Given the description of an element on the screen output the (x, y) to click on. 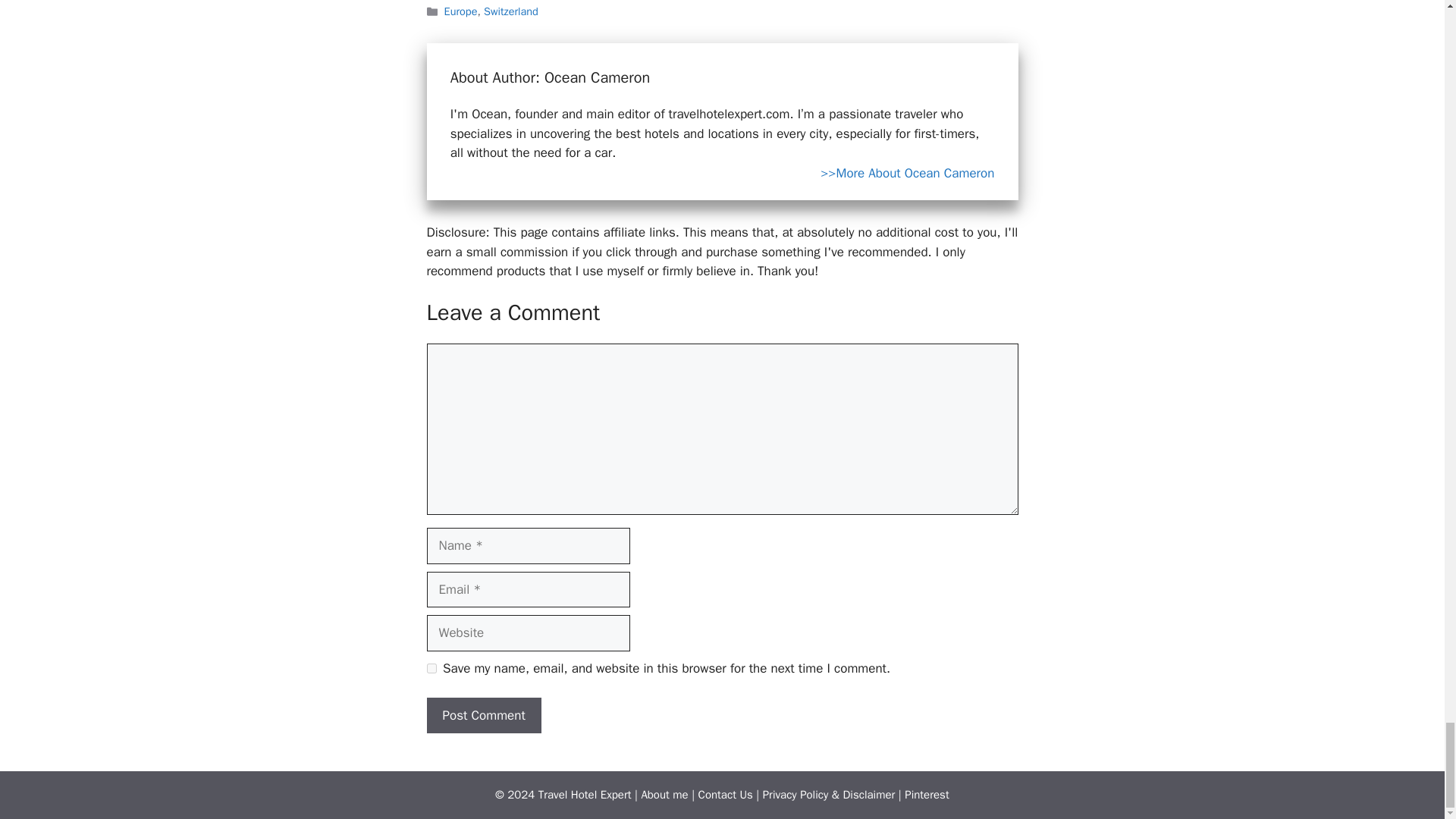
Post Comment (483, 715)
yes (430, 668)
Read more (907, 173)
